Given the description of an element on the screen output the (x, y) to click on. 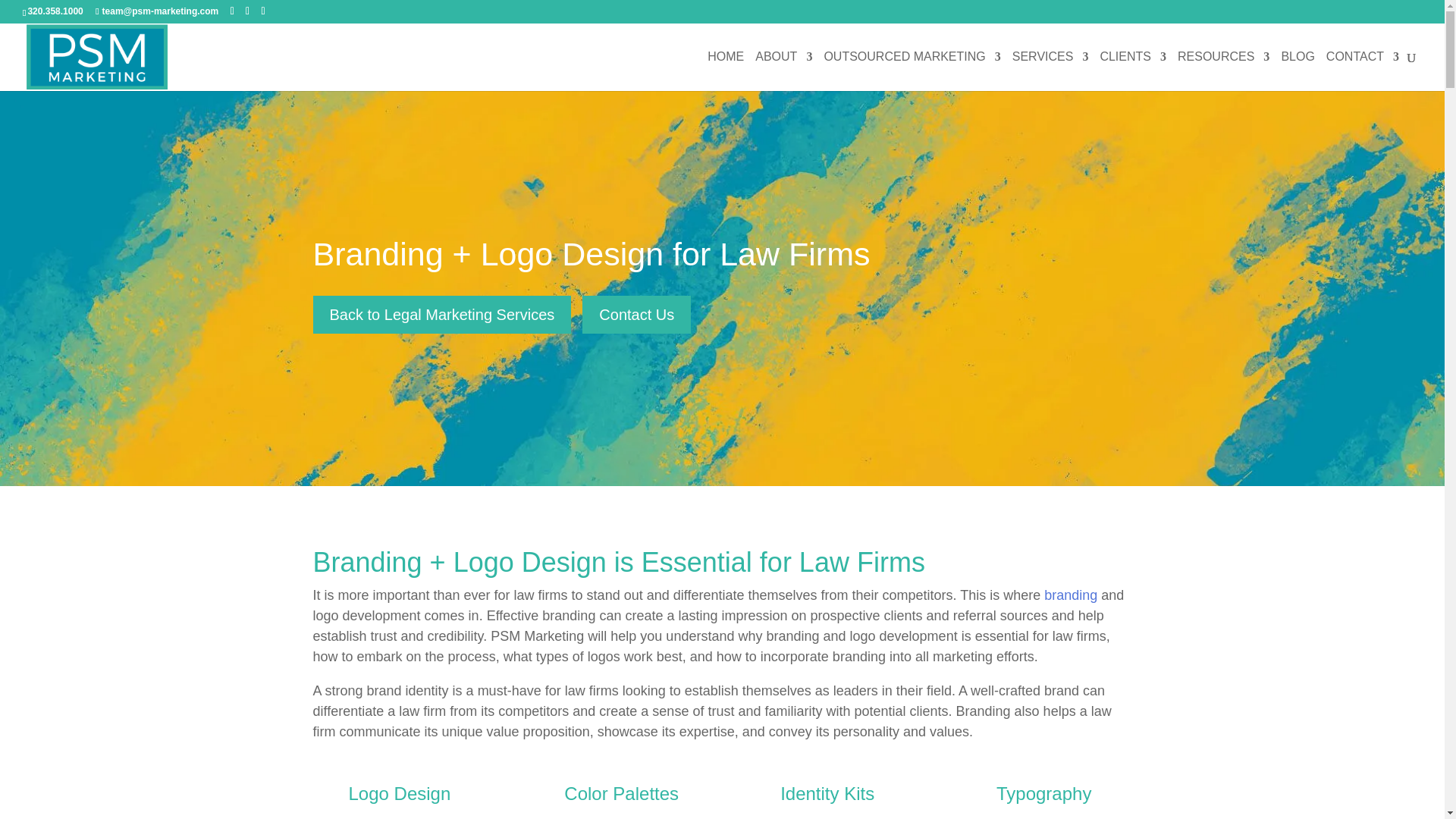
SERVICES (1050, 70)
ABOUT (783, 70)
HOME (725, 70)
Welcome to PSM (725, 70)
320.358.1000 (54, 10)
OUTSOURCED MARKETING (912, 70)
CLIENTS (1132, 70)
